Given the description of an element on the screen output the (x, y) to click on. 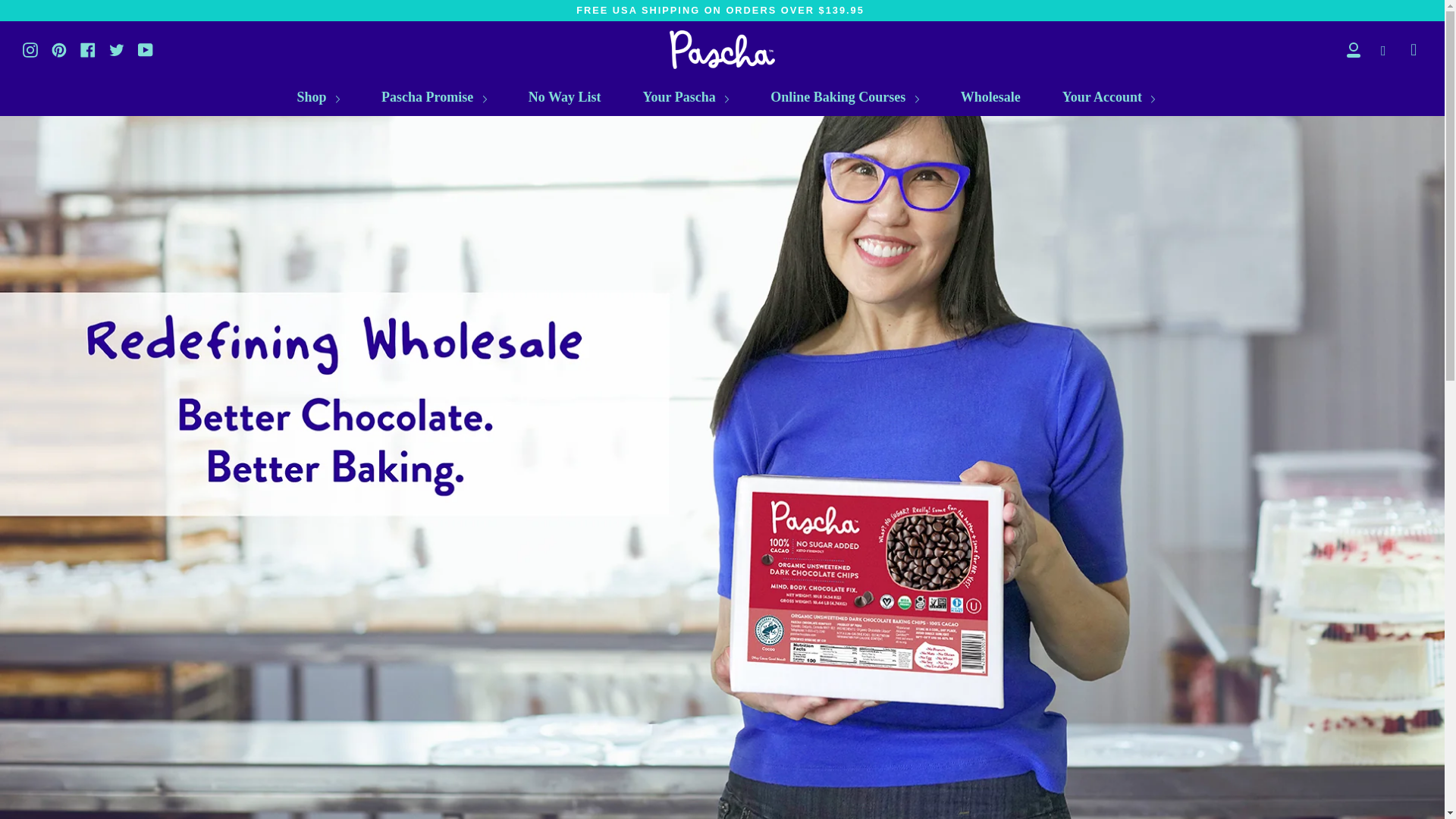
Online Baking Courses (845, 96)
Twitter (116, 48)
Pascha Promise (433, 96)
Wholesale (990, 96)
Pascha Chocolate Co on Facebook (88, 48)
Shop (318, 96)
Pascha Chocolate Co on Pinterest (58, 48)
Your Pascha (685, 96)
Pascha Chocolate Co on Instagram (30, 48)
Pinterest (58, 48)
